Given the description of an element on the screen output the (x, y) to click on. 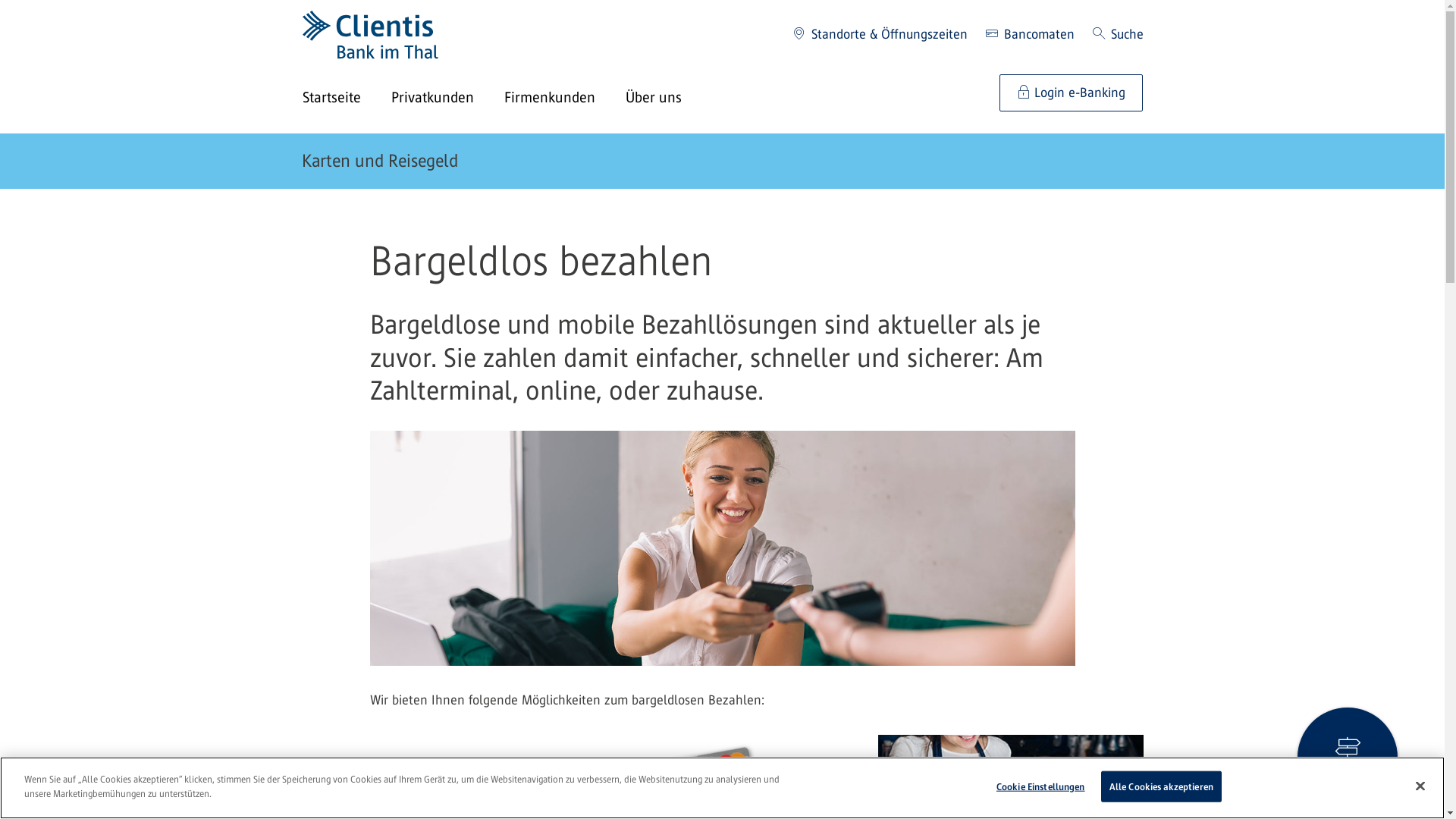
Kontakt Element type: text (1347, 757)
Bancomaten Element type: text (1029, 34)
Firmenkunden Element type: text (563, 98)
Alle Cookies akzeptieren Element type: text (1161, 787)
Login e-Banking Element type: text (1070, 92)
Privatkunden Element type: text (447, 98)
Suche Element type: text (1117, 34)
Karten und Reisegeld Element type: text (379, 160)
Startseite Element type: text (345, 98)
Cookie Einstellungen Element type: text (1040, 786)
